Given the description of an element on the screen output the (x, y) to click on. 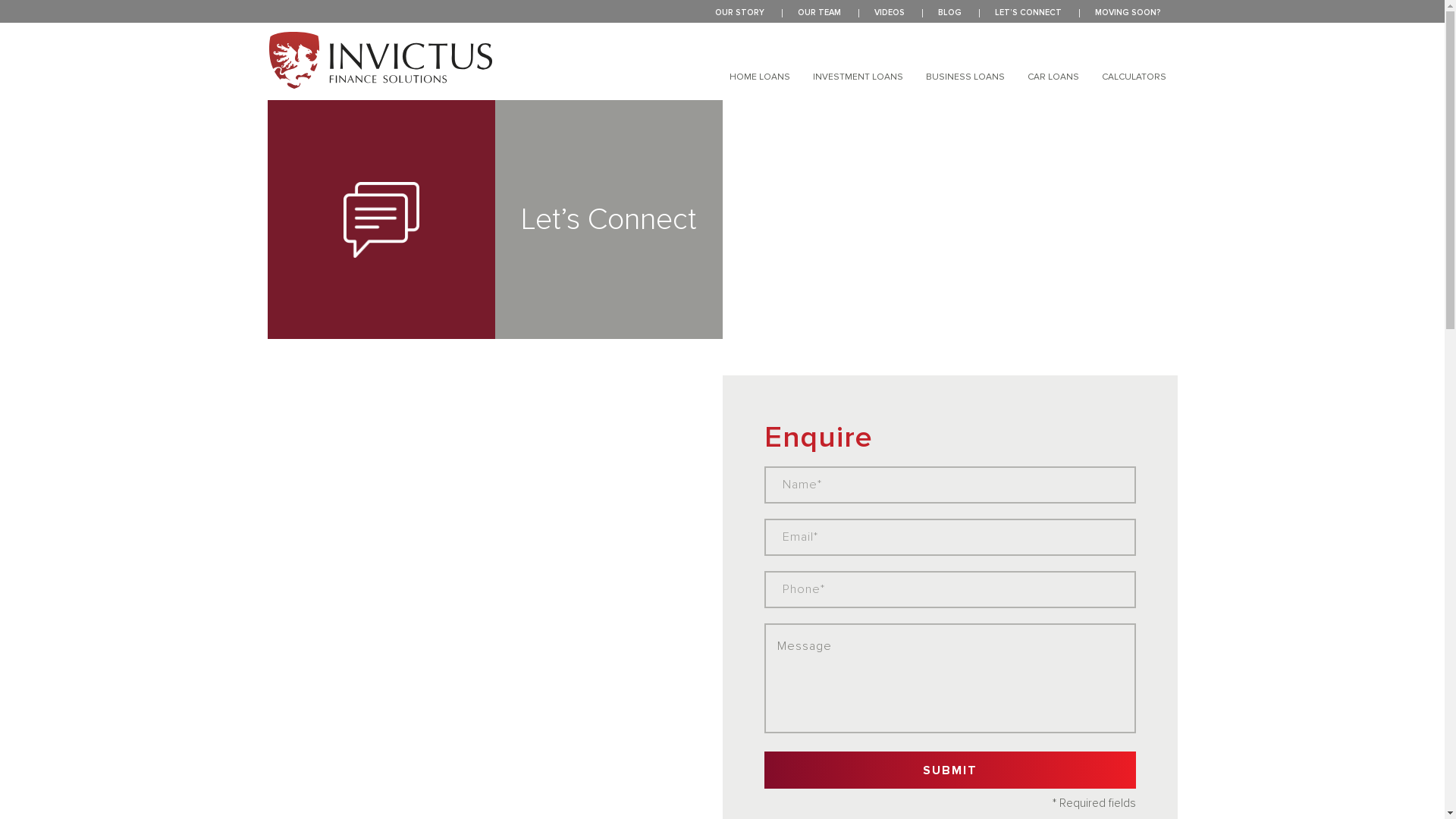
MOVING SOON? Element type: text (1128, 12)
BLOG Element type: text (948, 12)
HOME LOANS Element type: text (759, 76)
BUSINESS LOANS Element type: text (964, 76)
INVESTMENT LOANS Element type: text (857, 76)
CALCULATORS Element type: text (1133, 76)
OUR TEAM Element type: text (818, 12)
CAR LOANS Element type: text (1052, 76)
VIDEOS Element type: text (888, 12)
Submit Element type: text (949, 769)
OUR STORY Element type: text (738, 12)
